Given the description of an element on the screen output the (x, y) to click on. 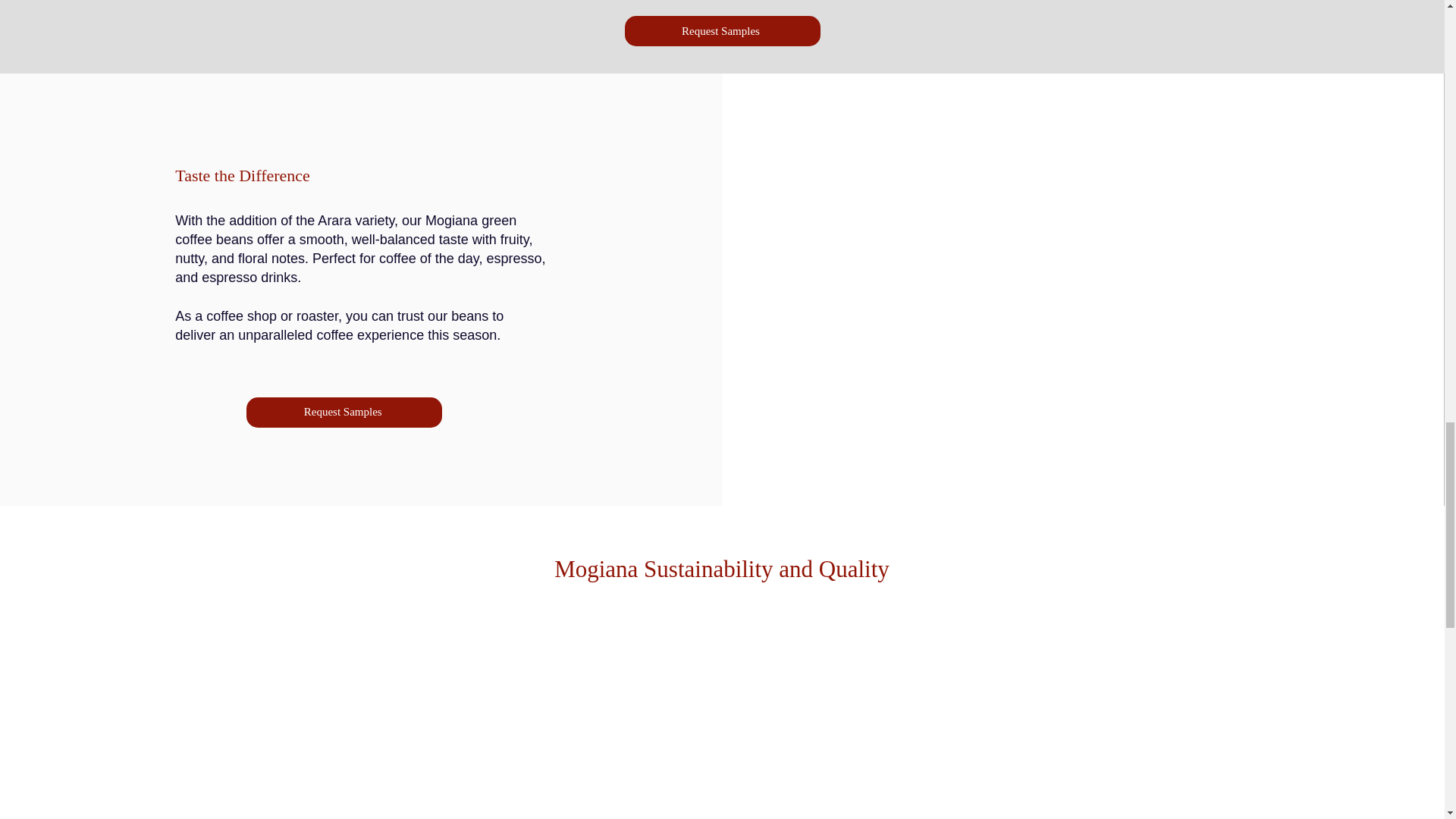
Request Samples (722, 30)
Request Samples (344, 412)
